Given the description of an element on the screen output the (x, y) to click on. 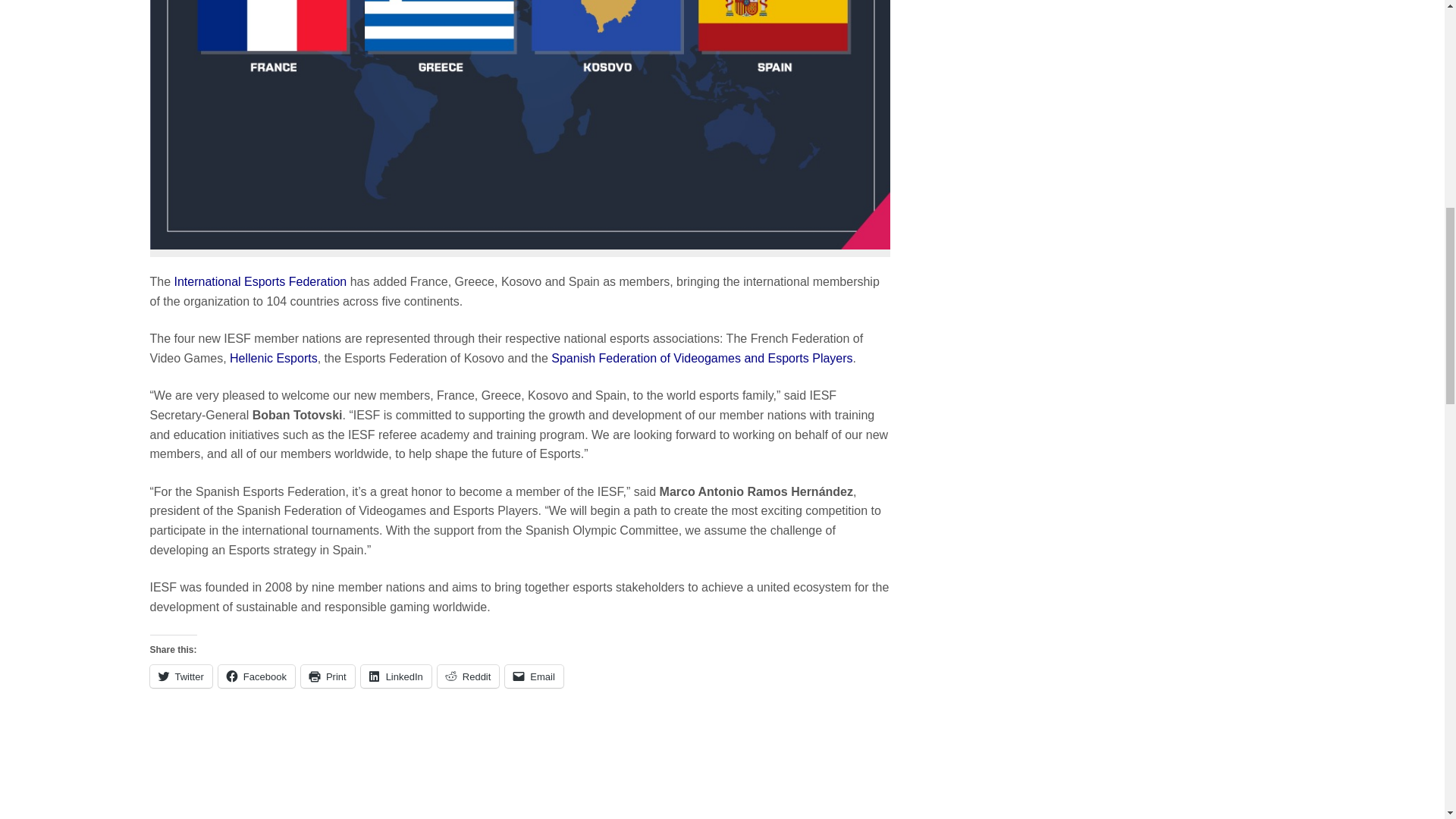
Click to print (328, 676)
Click to share on LinkedIn (395, 676)
Click to share on Twitter (180, 676)
Click to email a link to a friend (534, 676)
Click to share on Reddit (468, 676)
Click to share on Facebook (256, 676)
